Given the description of an element on the screen output the (x, y) to click on. 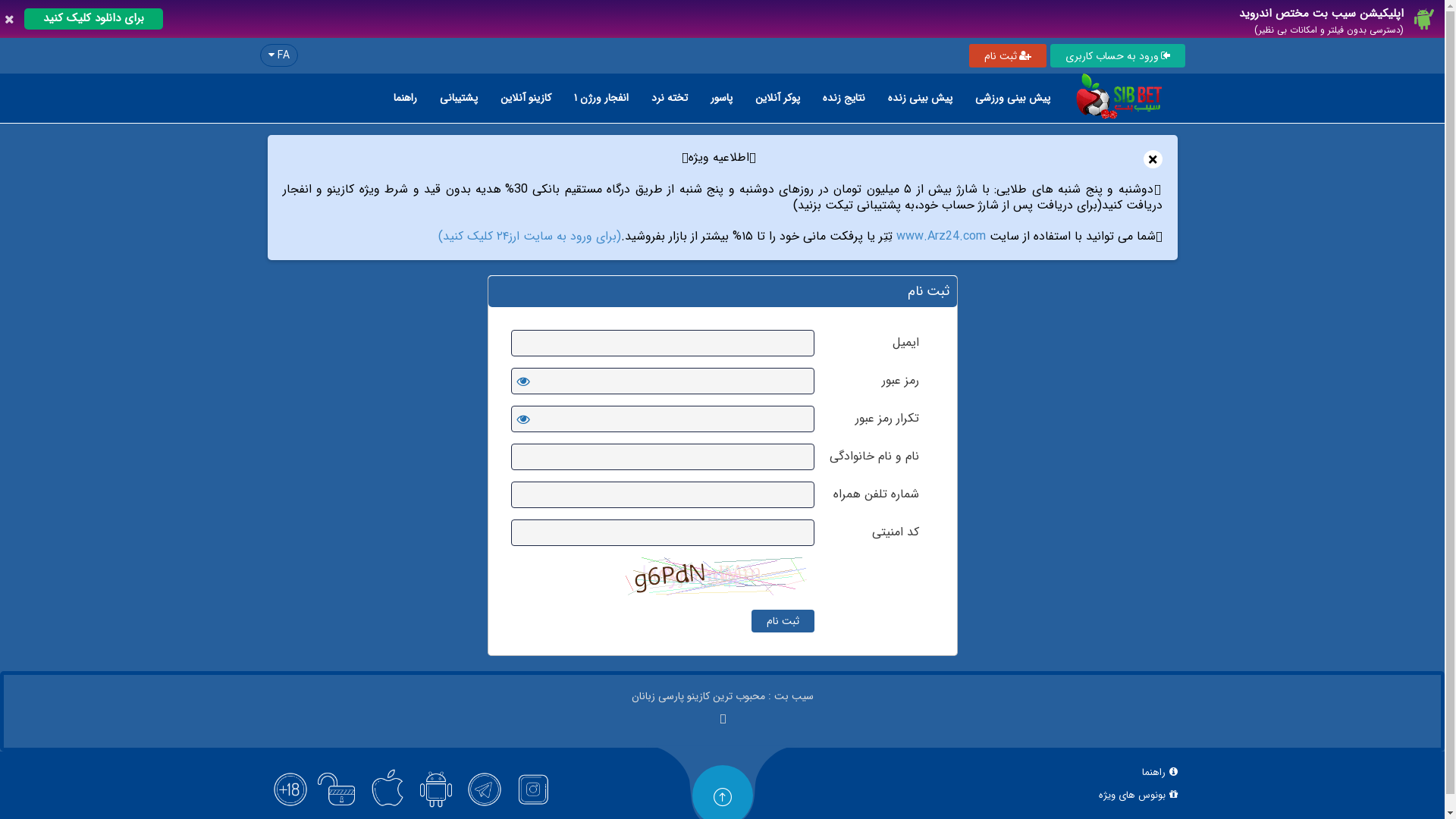
www.Arz24.com Element type: text (940, 235)
FA Element type: text (278, 54)
